Given the description of an element on the screen output the (x, y) to click on. 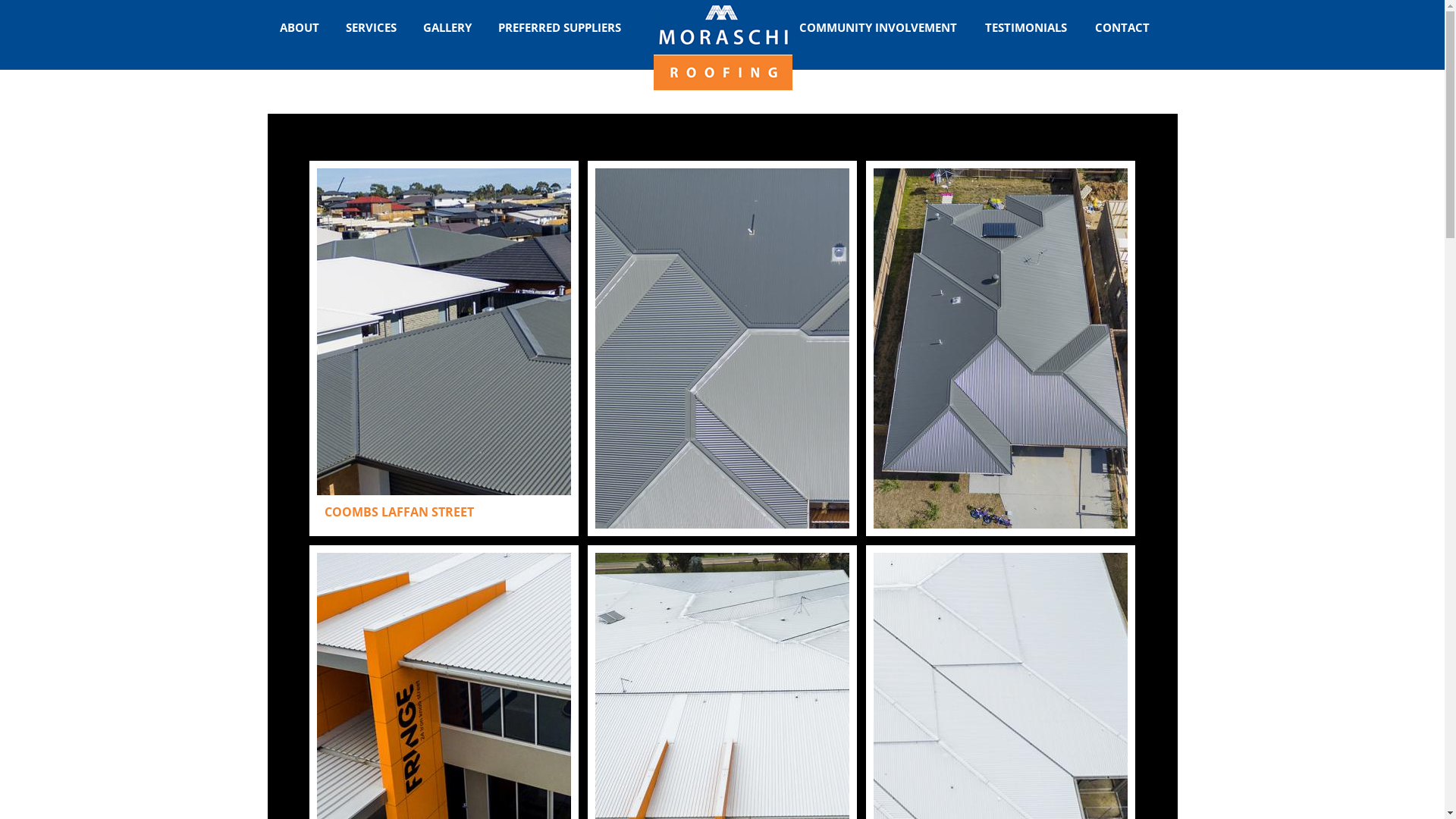
SERVICES Element type: text (370, 27)
COMMUNITY INVOLVEMENT Element type: text (877, 27)
GALLERY Element type: text (447, 27)
Skip to main content Element type: text (695, 1)
TESTIMONIALS Element type: text (1025, 27)
HOME Element type: text (722, 45)
CONTACT Element type: text (1121, 27)
ABOUT Element type: text (298, 27)
PREFERRED SUPPLIERS Element type: text (558, 27)
